Given the description of an element on the screen output the (x, y) to click on. 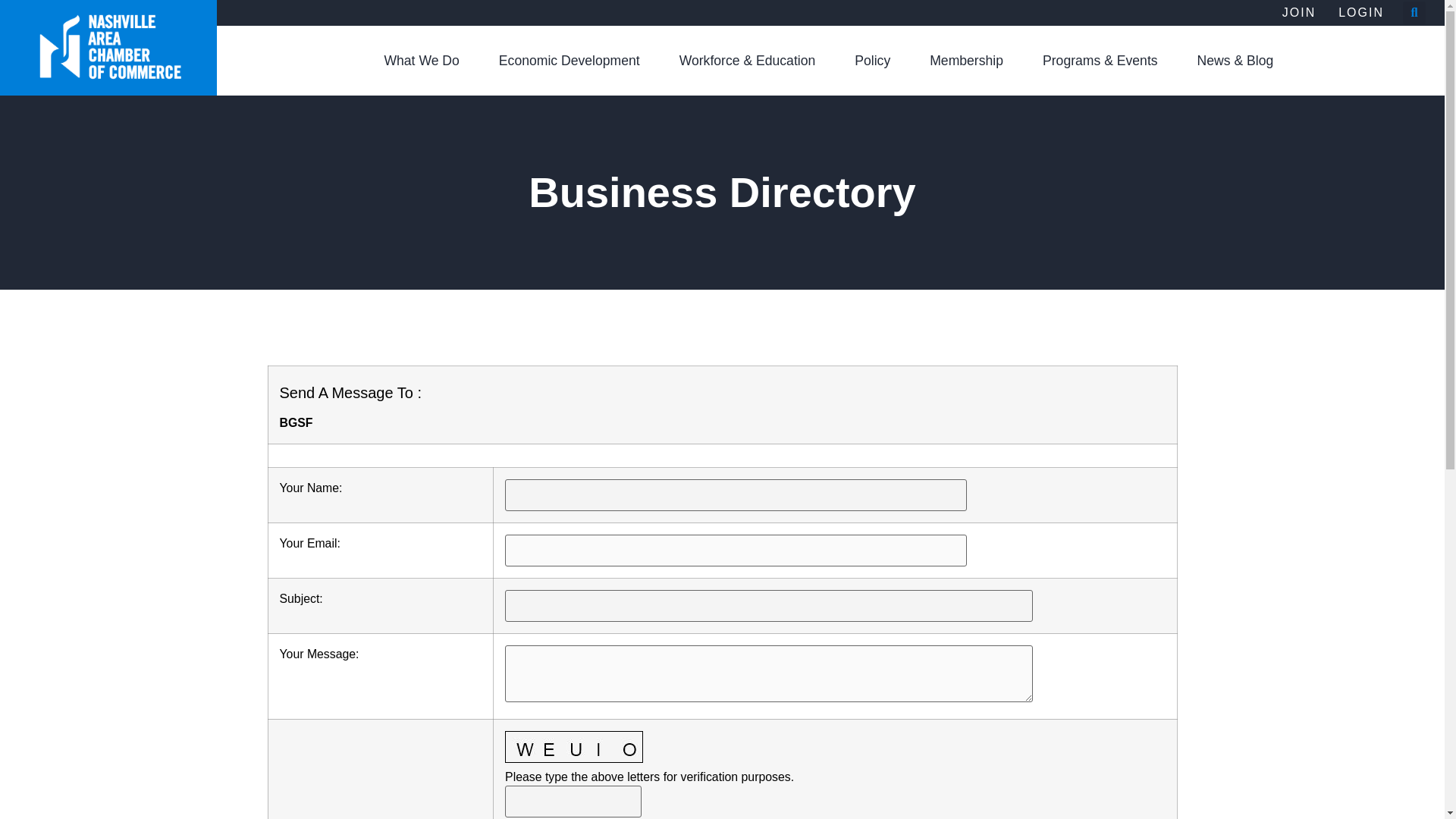
Clear (594, 818)
Send (533, 818)
JOIN (1299, 12)
LOGIN (1361, 12)
